Given the description of an element on the screen output the (x, y) to click on. 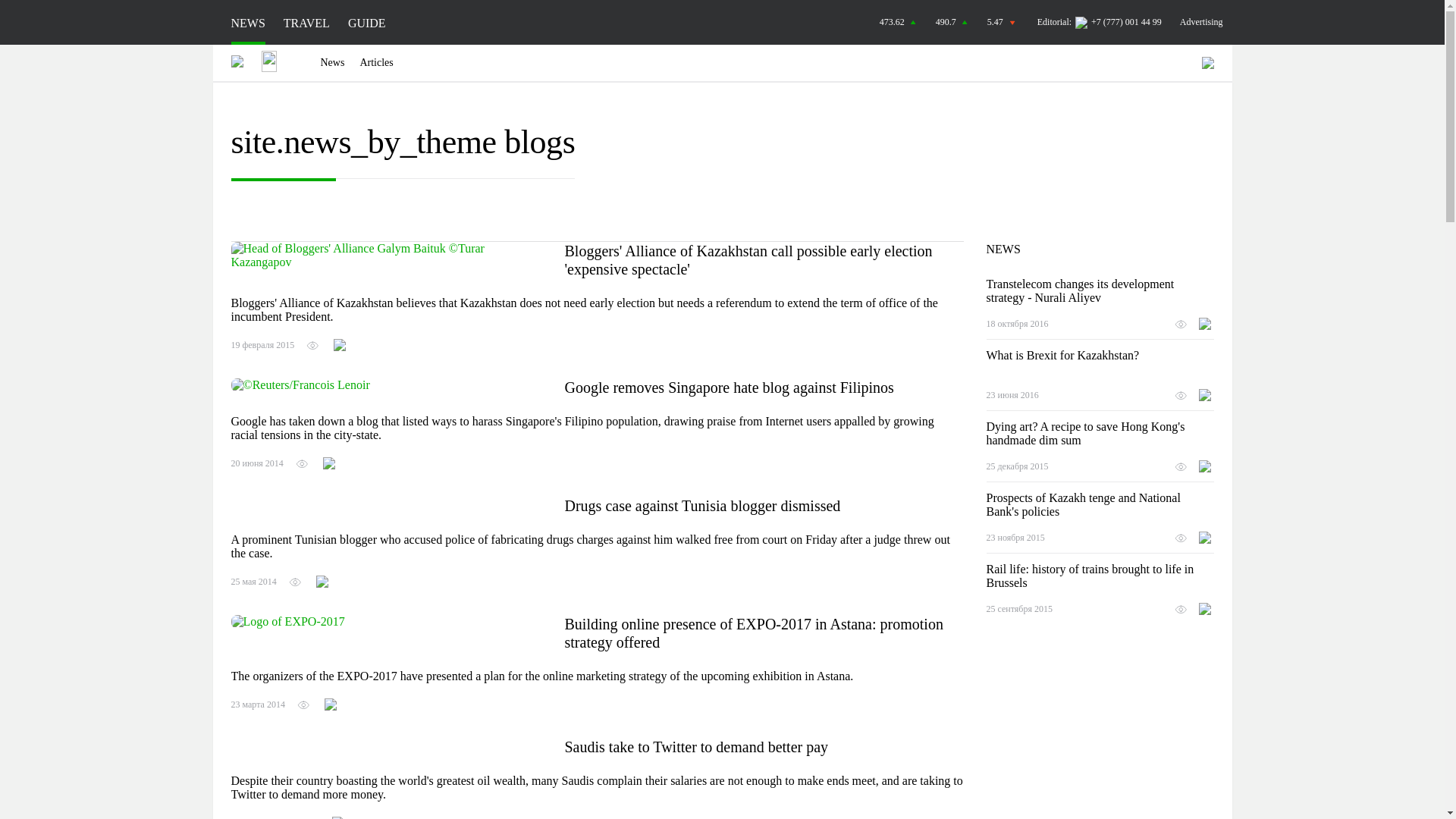
TRAVEL (306, 22)
News (331, 62)
Advertising (1201, 21)
Articles (376, 62)
